Given the description of an element on the screen output the (x, y) to click on. 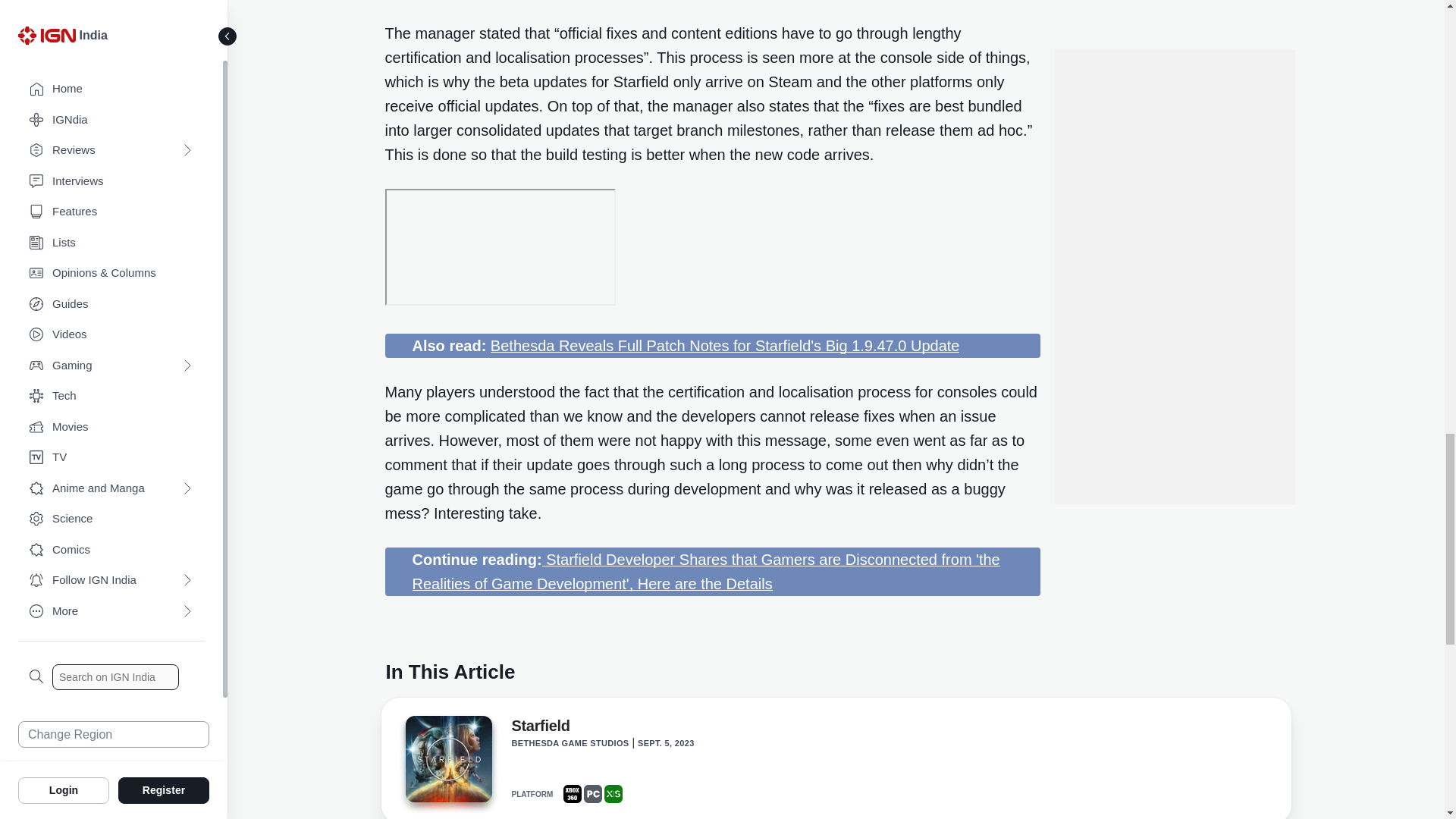
Starfield (448, 763)
Starfield (540, 728)
Starfield (448, 758)
